Given the description of an element on the screen output the (x, y) to click on. 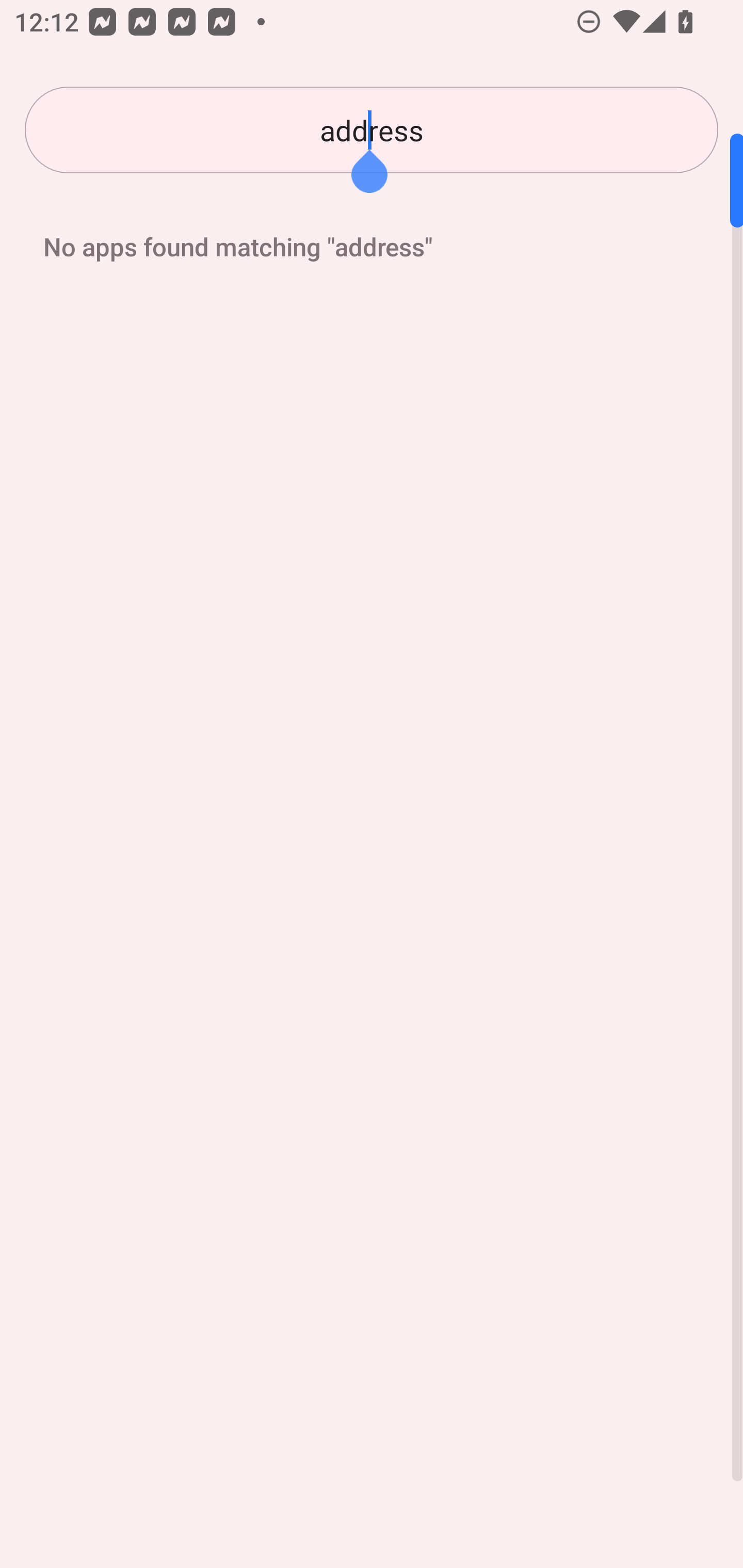
address (371, 130)
